Given the description of an element on the screen output the (x, y) to click on. 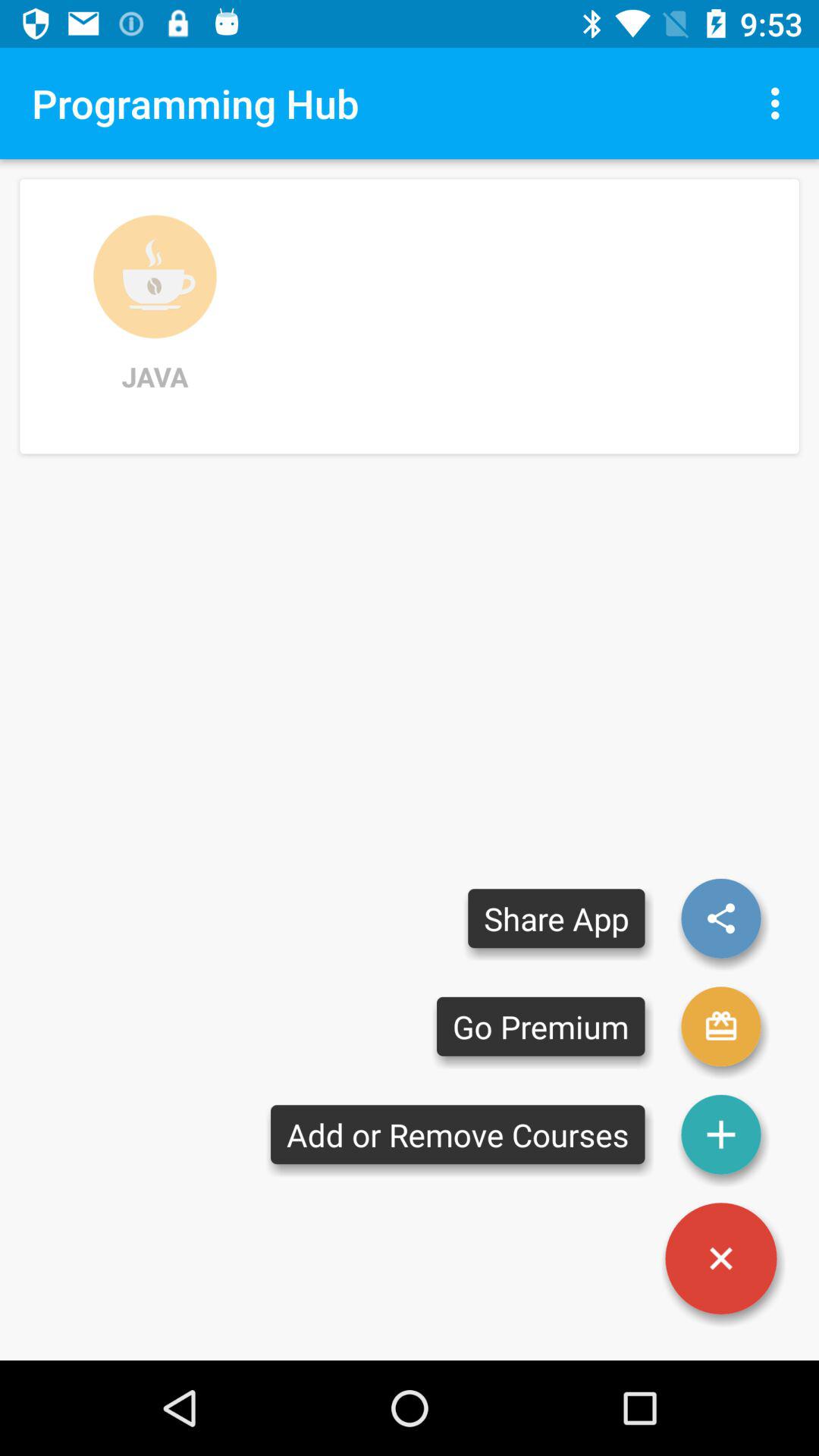
jump to the share app item (556, 918)
